Given the description of an element on the screen output the (x, y) to click on. 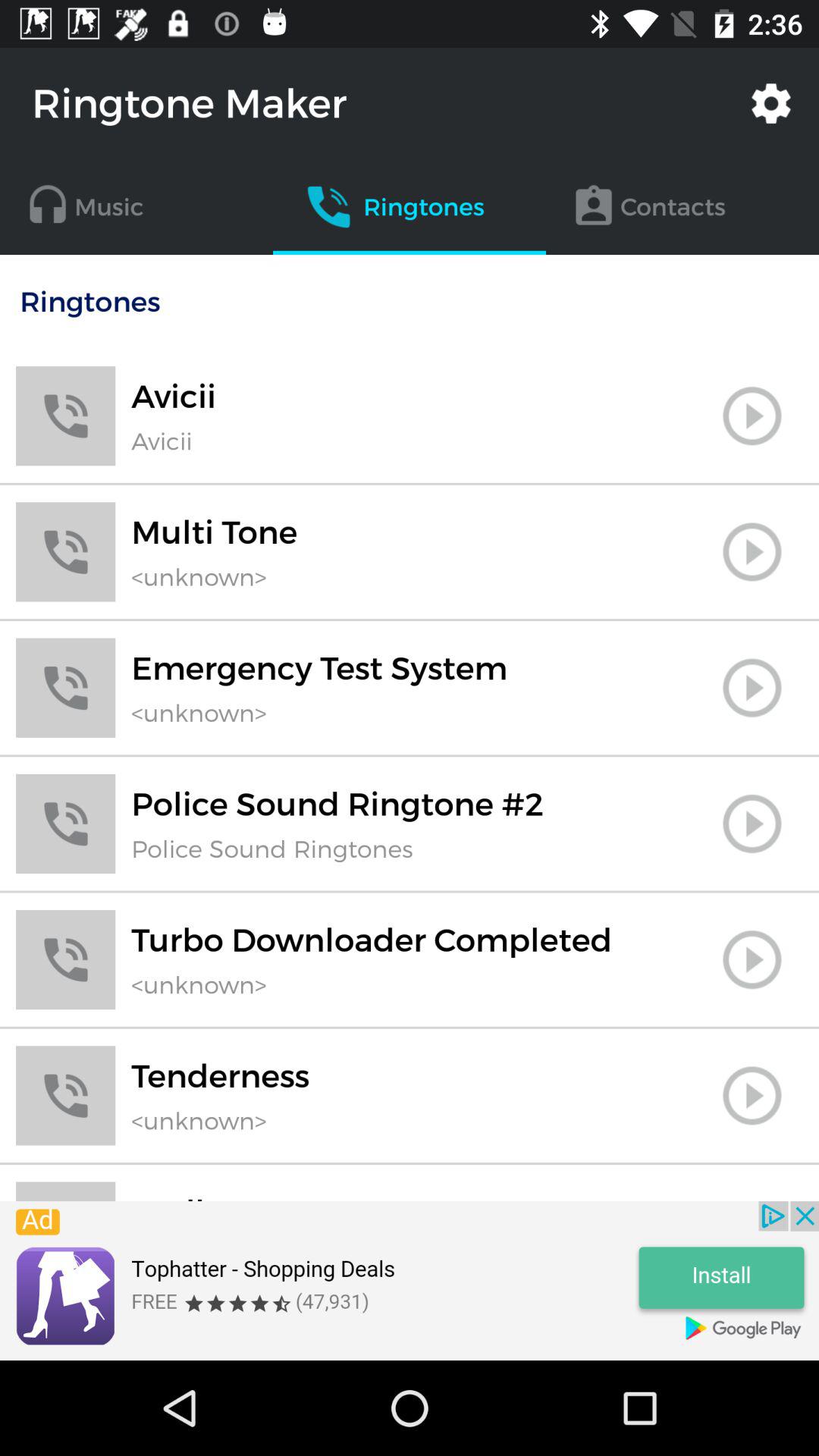
menu open button (752, 416)
